Given the description of an element on the screen output the (x, y) to click on. 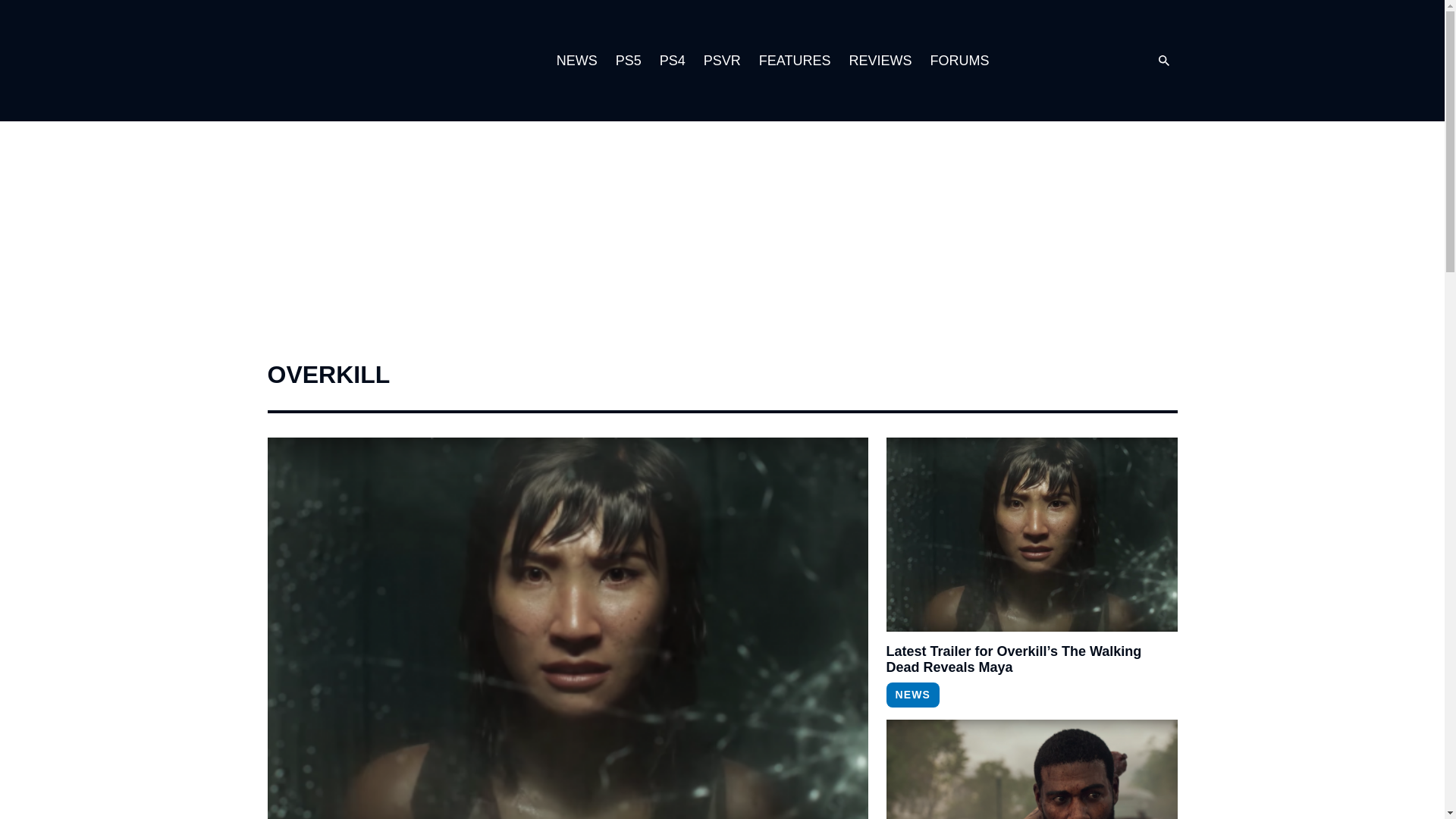
NEWS (577, 60)
Twitter (1079, 60)
Facebook (1109, 60)
REVIEWS (880, 60)
PSVR (721, 60)
NEWS (912, 694)
FEATURES (794, 60)
3rd party ad content (721, 240)
FORUMS (958, 60)
Instagram (1048, 60)
